Given the description of an element on the screen output the (x, y) to click on. 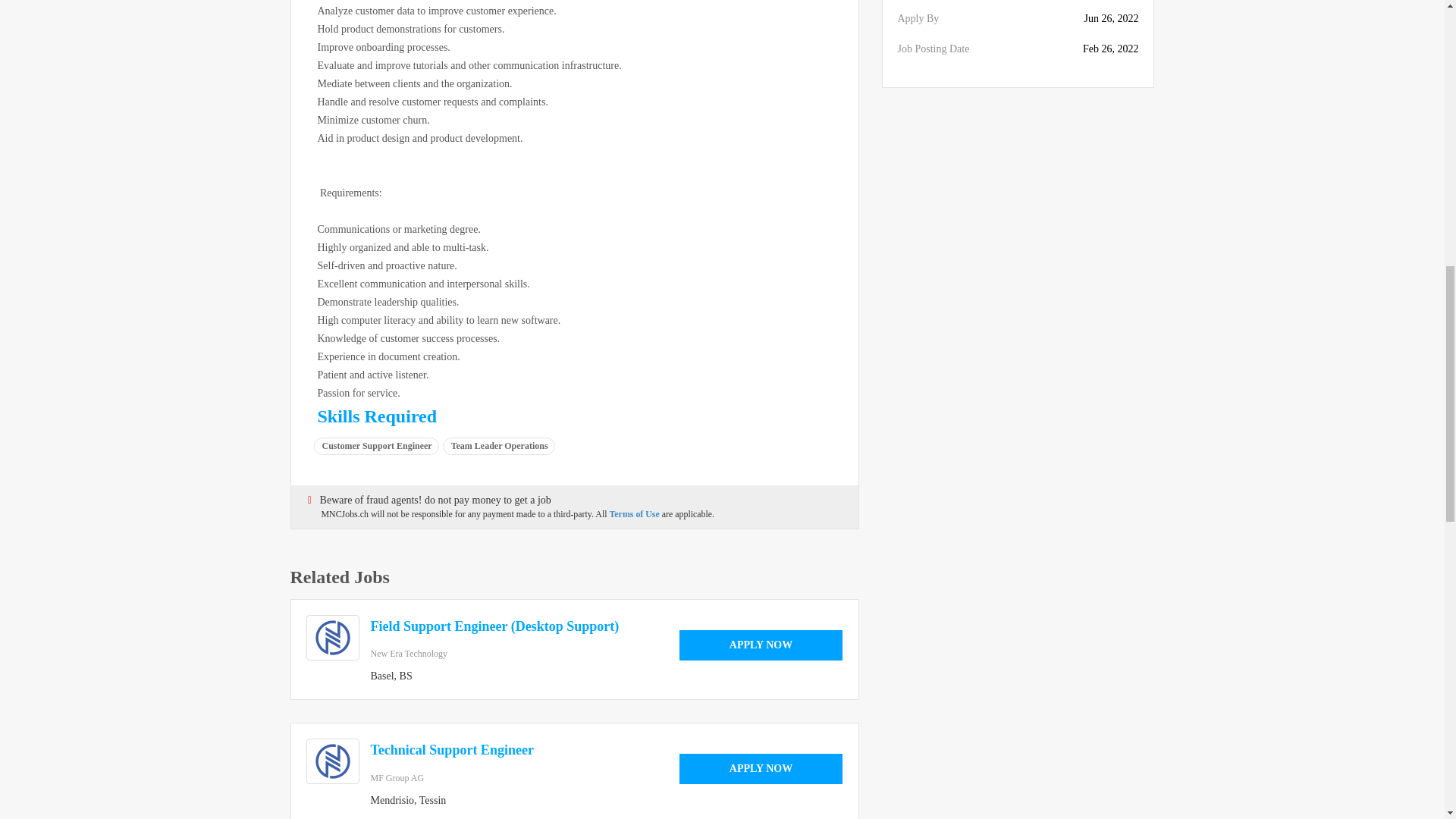
Technical Support Engineer (450, 749)
New Era Technology (407, 653)
Team Leader Operations (499, 445)
APPLY NOW (761, 768)
MF Group AG (396, 777)
APPLY NOW (761, 644)
Terms of Use (636, 513)
Customer Support Engineer (375, 445)
